Given the description of an element on the screen output the (x, y) to click on. 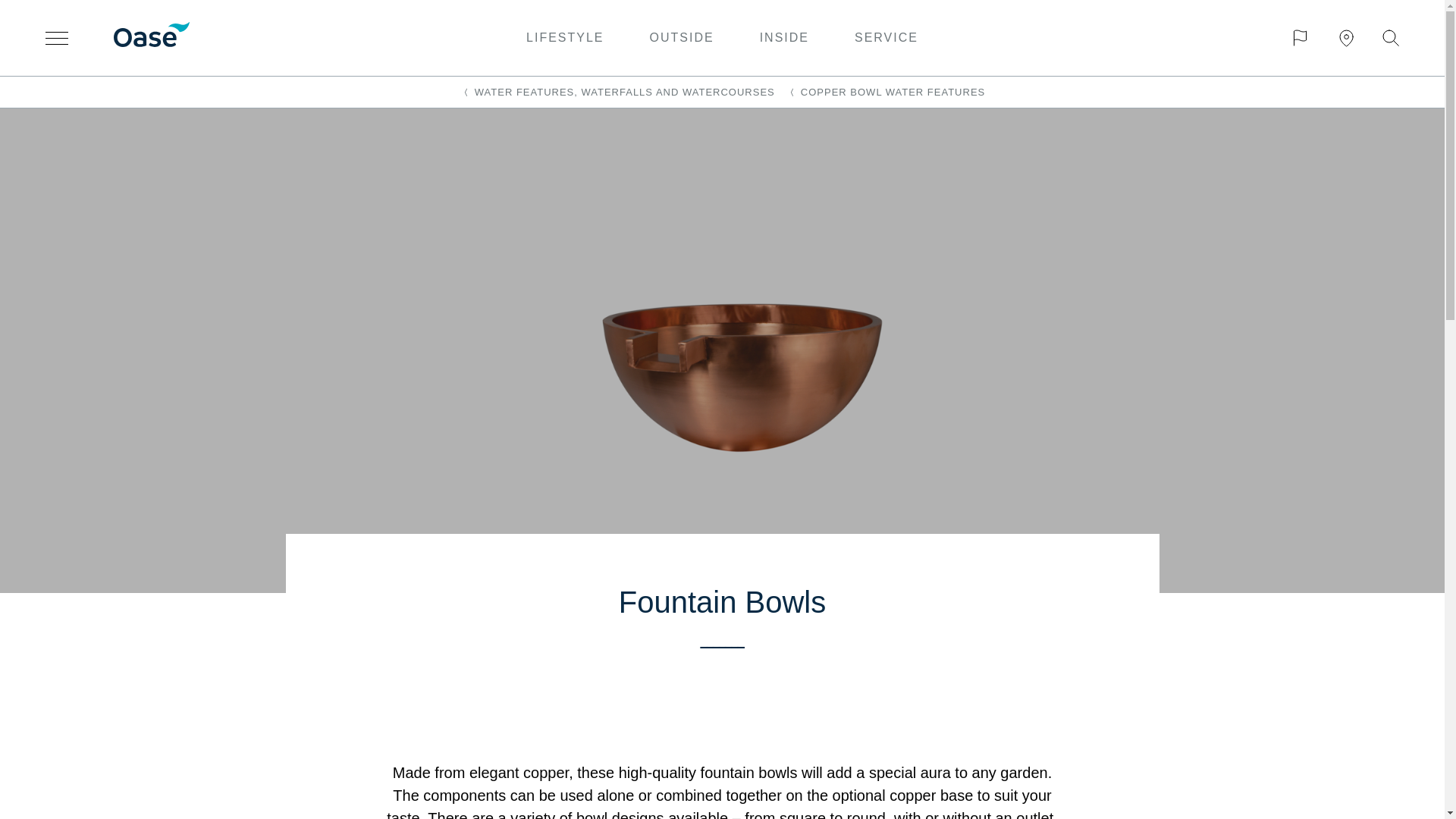
WATER FEATURES, WATERFALLS AND WATERCOURSES (617, 91)
OUTSIDE (681, 37)
COPPER BOWL WATER FEATURES (885, 91)
INSIDE (783, 37)
SERVICE (885, 37)
LIFESTYLE (564, 37)
